Given the description of an element on the screen output the (x, y) to click on. 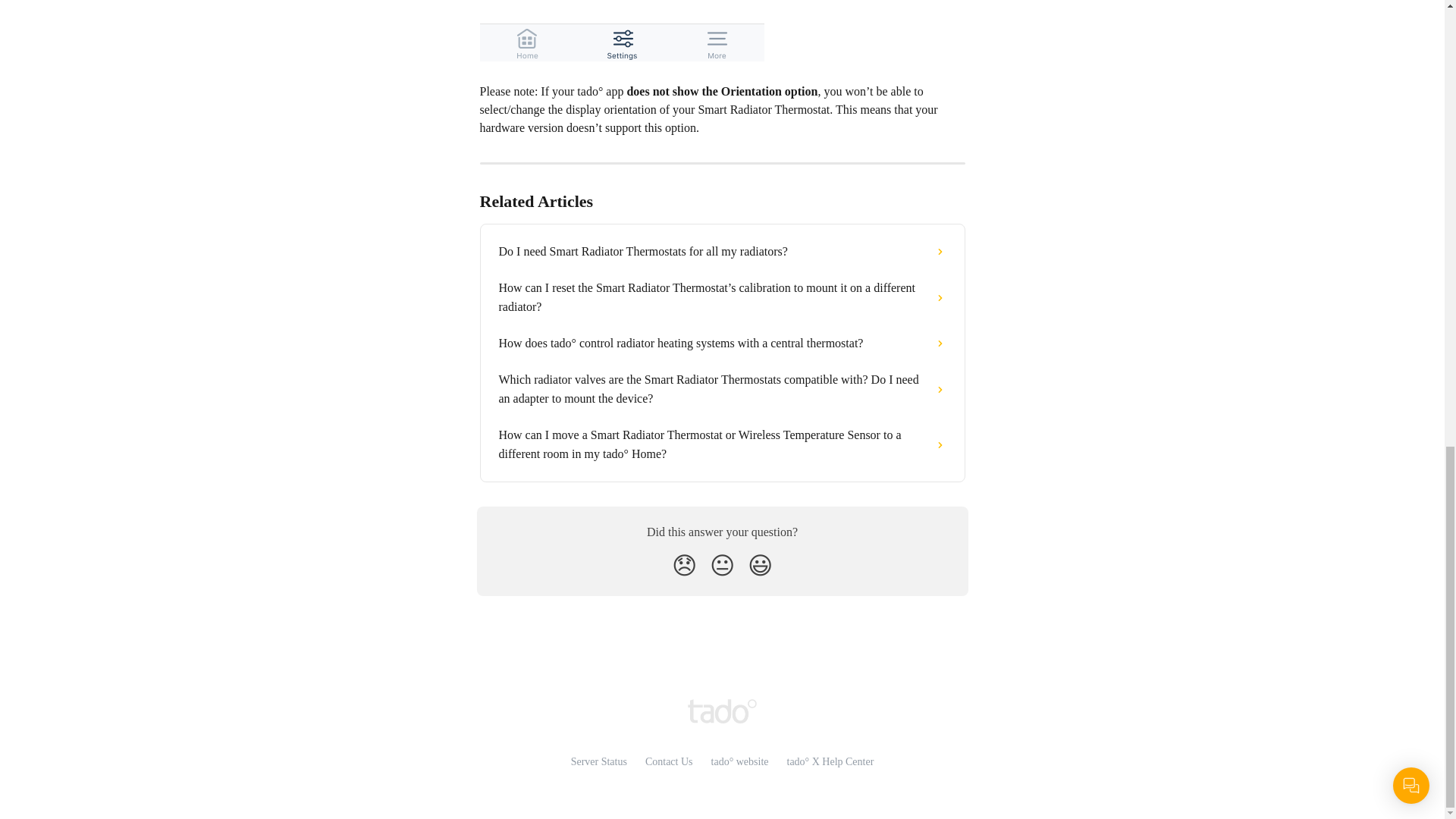
Neutral (722, 565)
Disappointed (684, 565)
Contact Us (669, 761)
Smiley (760, 565)
Do I need Smart Radiator Thermostats for all my radiators? (722, 251)
Server Status (598, 761)
